Given the description of an element on the screen output the (x, y) to click on. 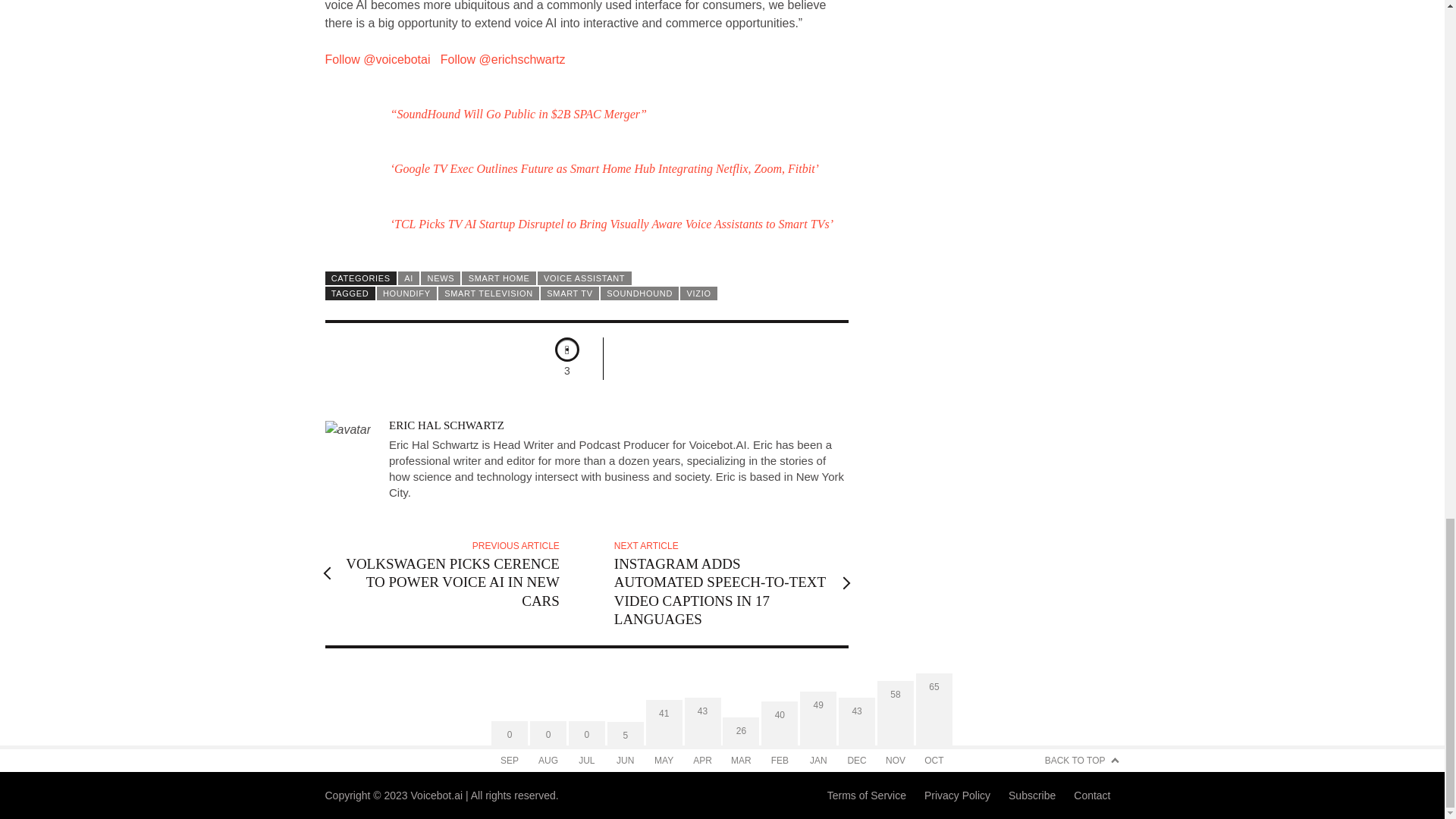
Posts by Eric Hal Schwartz (445, 425)
View all posts in Voice Assistant (584, 278)
View all posts in News (440, 278)
View all posts tagged Vizio (698, 293)
View all posts tagged SoundHound (638, 293)
View all posts tagged Smart Television (488, 293)
View all posts in Smart Home (498, 278)
View all posts tagged Houndify (406, 293)
View all posts tagged Smart TV (569, 293)
View all posts in AI (408, 278)
